Given the description of an element on the screen output the (x, y) to click on. 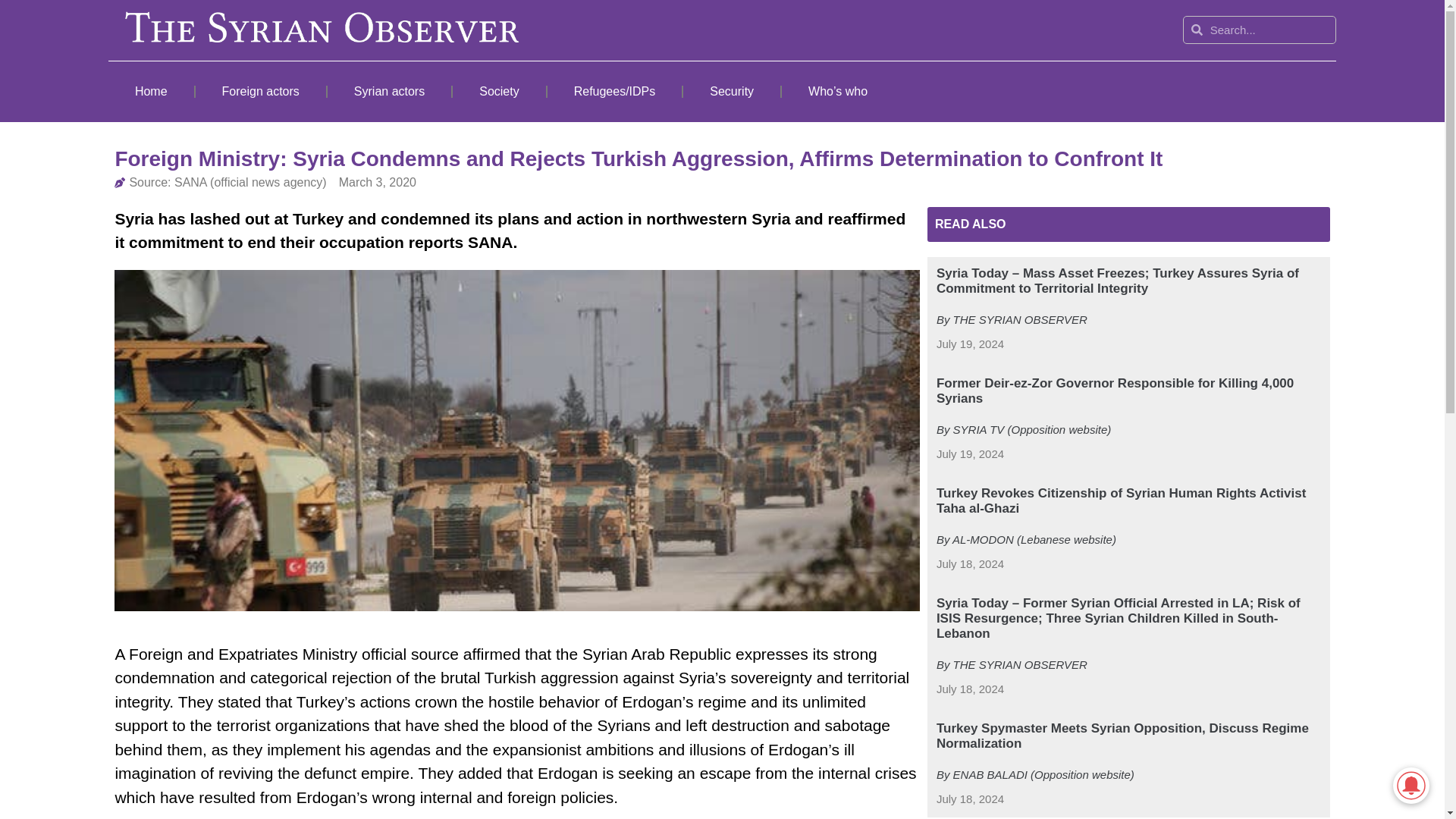
July 19, 2024 (970, 343)
July 18, 2024 (970, 799)
Security (731, 91)
Society (498, 91)
July 18, 2024 (970, 689)
Foreign actors (260, 91)
July 19, 2024 (970, 454)
Home (150, 91)
Syrian actors (389, 91)
July 18, 2024 (970, 564)
